Given the description of an element on the screen output the (x, y) to click on. 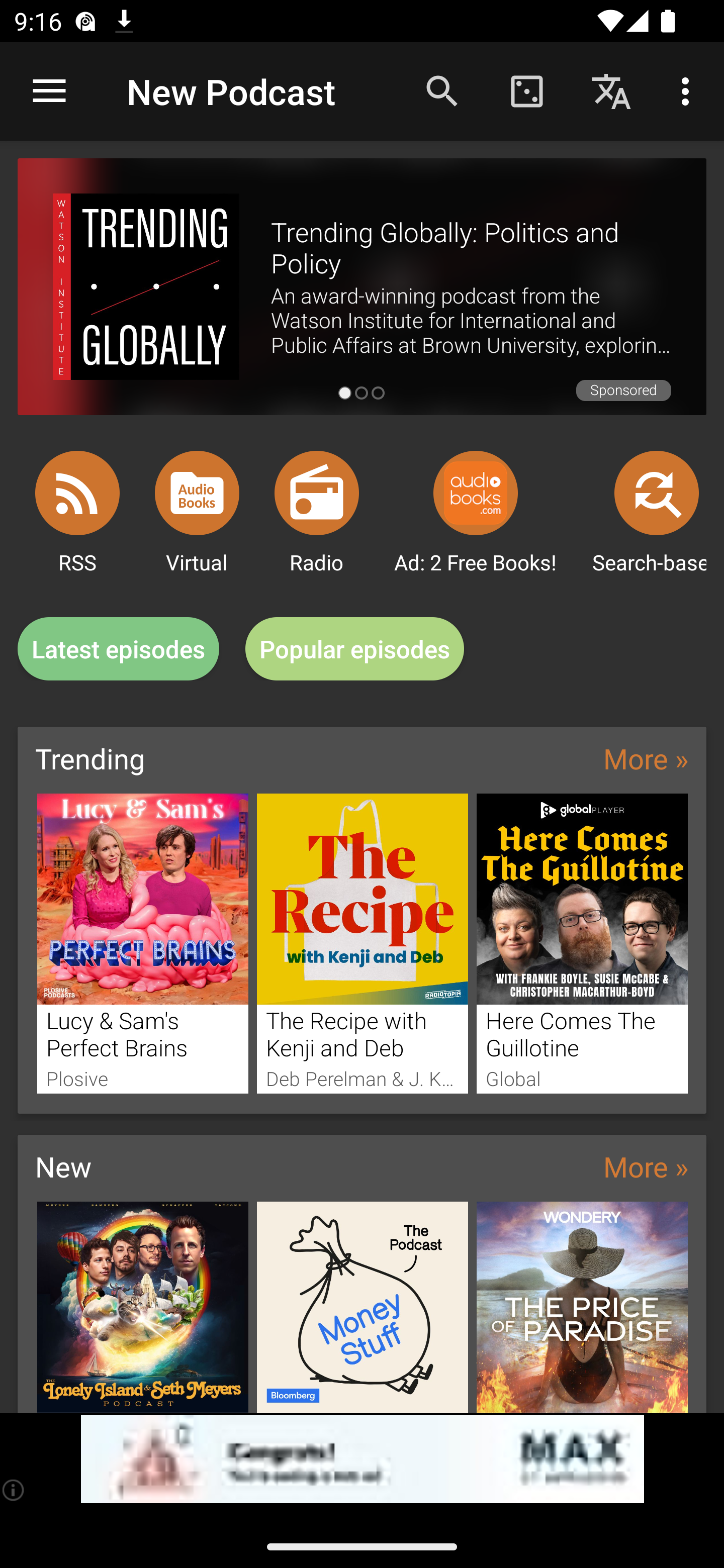
Open navigation sidebar (49, 91)
Search (442, 90)
Random pick (526, 90)
Podcast languages (611, 90)
More options (688, 90)
RSS (77, 492)
Virtual (196, 492)
Radio (316, 492)
Search-based (656, 492)
Latest episodes (118, 648)
Popular episodes (354, 648)
More » (645, 757)
Lucy & Sam's Perfect Brains Plosive (142, 942)
Here Comes The Guillotine Global (581, 942)
More » (645, 1166)
The Lonely Island and Seth Meyers Podcast (142, 1306)
Money Stuff: The Podcast (362, 1306)
The Price of Paradise (581, 1306)
app-monetization (362, 1459)
(i) (14, 1489)
